Given the description of an element on the screen output the (x, y) to click on. 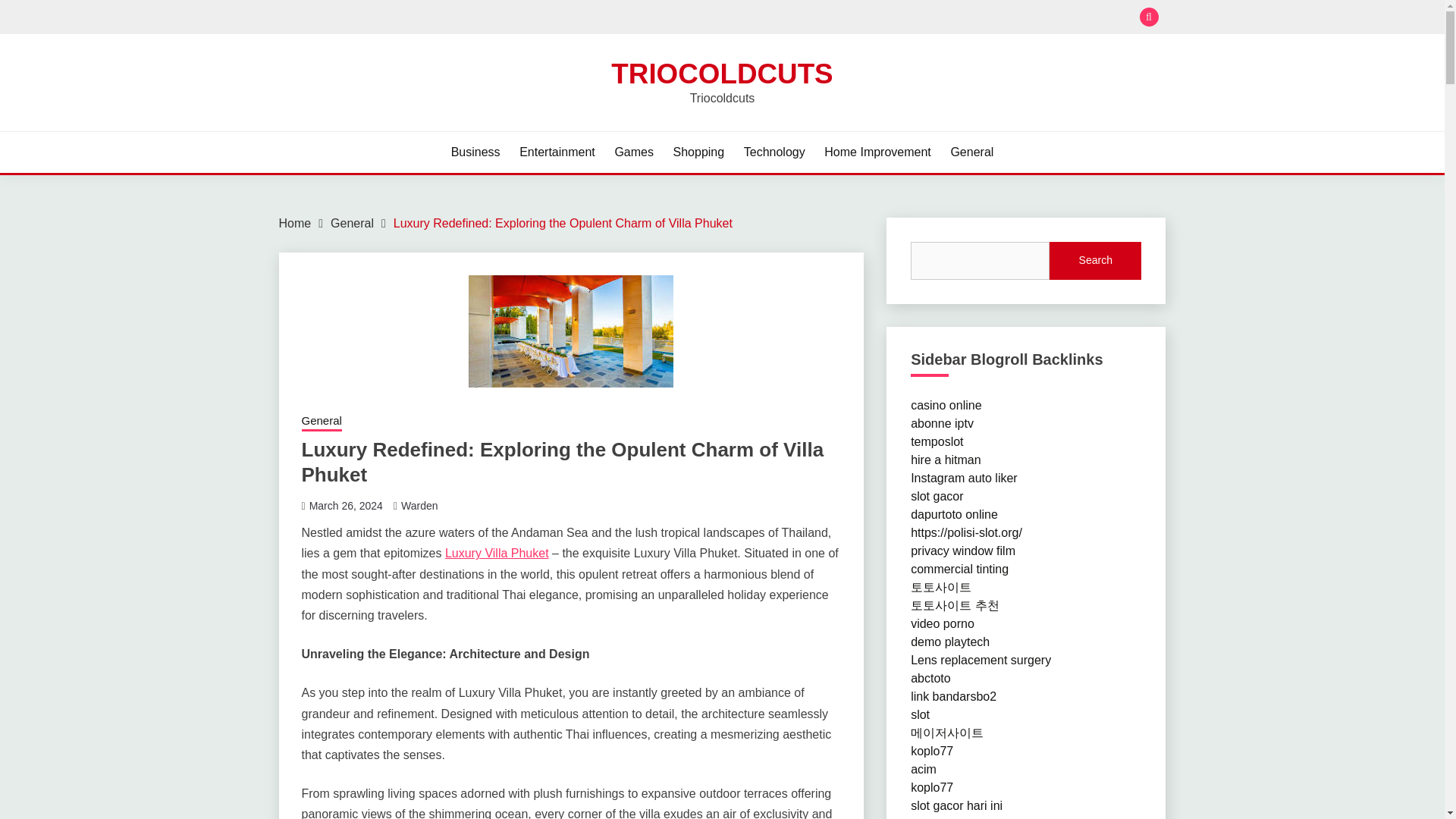
Games (633, 152)
Instagram auto liker (964, 477)
Business (475, 152)
Luxury Villa Phuket (496, 553)
March 26, 2024 (345, 505)
Shopping (698, 152)
abonne iptv (942, 422)
General (352, 223)
General (321, 422)
casino online (946, 404)
General (971, 152)
hire a hitman (946, 459)
Home (295, 223)
temposlot (936, 440)
Search (1095, 260)
